Given the description of an element on the screen output the (x, y) to click on. 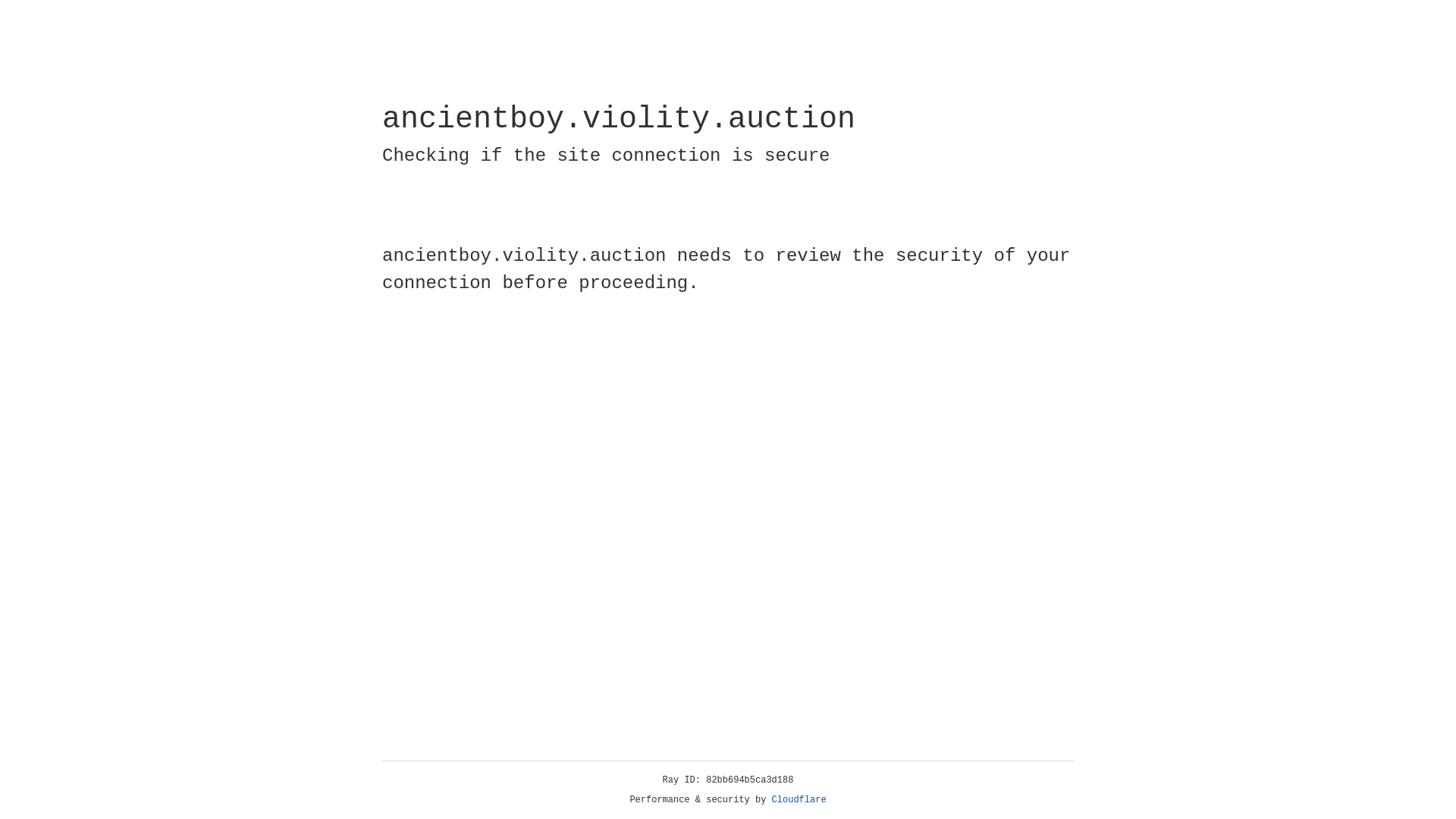
Cloudflare Element type: text (798, 799)
